Given the description of an element on the screen output the (x, y) to click on. 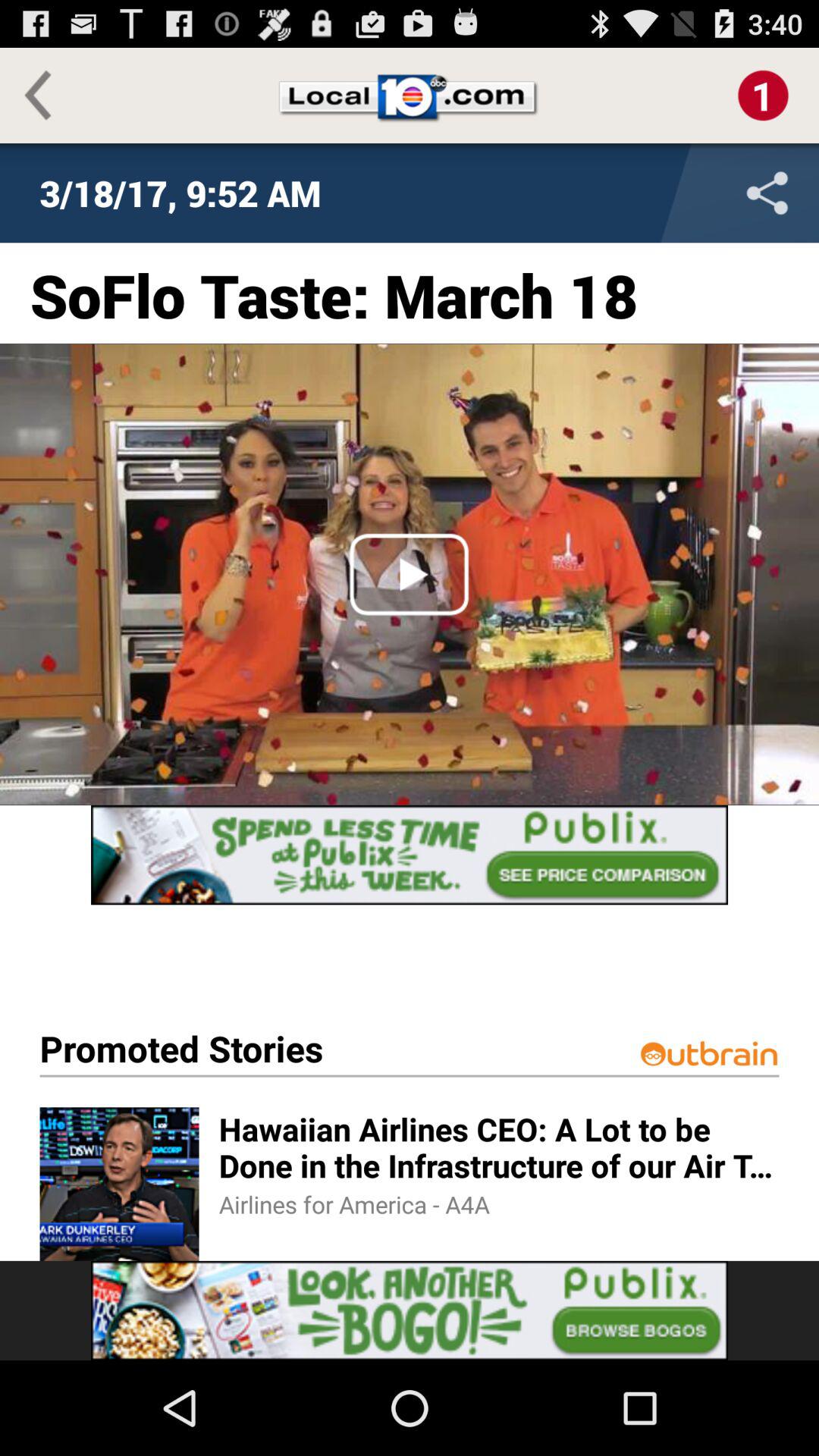
view advertisement in new app (409, 854)
